Given the description of an element on the screen output the (x, y) to click on. 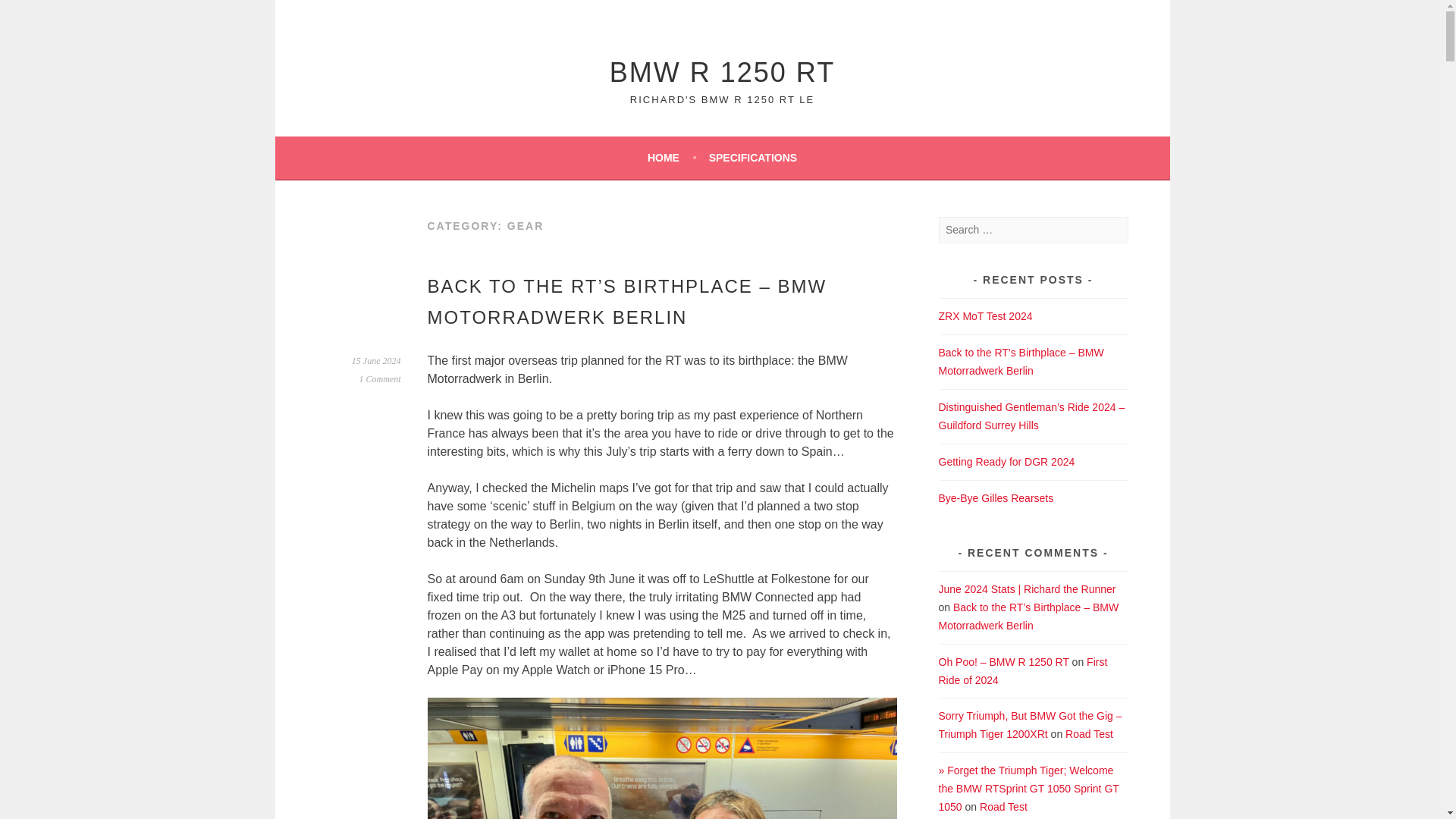
15 June 2024 (376, 360)
BMW R 1250 RT (722, 71)
BMW R 1250 RT (722, 71)
1 Comment (380, 378)
SPECIFICATIONS (752, 157)
HOME (672, 157)
